Given the description of an element on the screen output the (x, y) to click on. 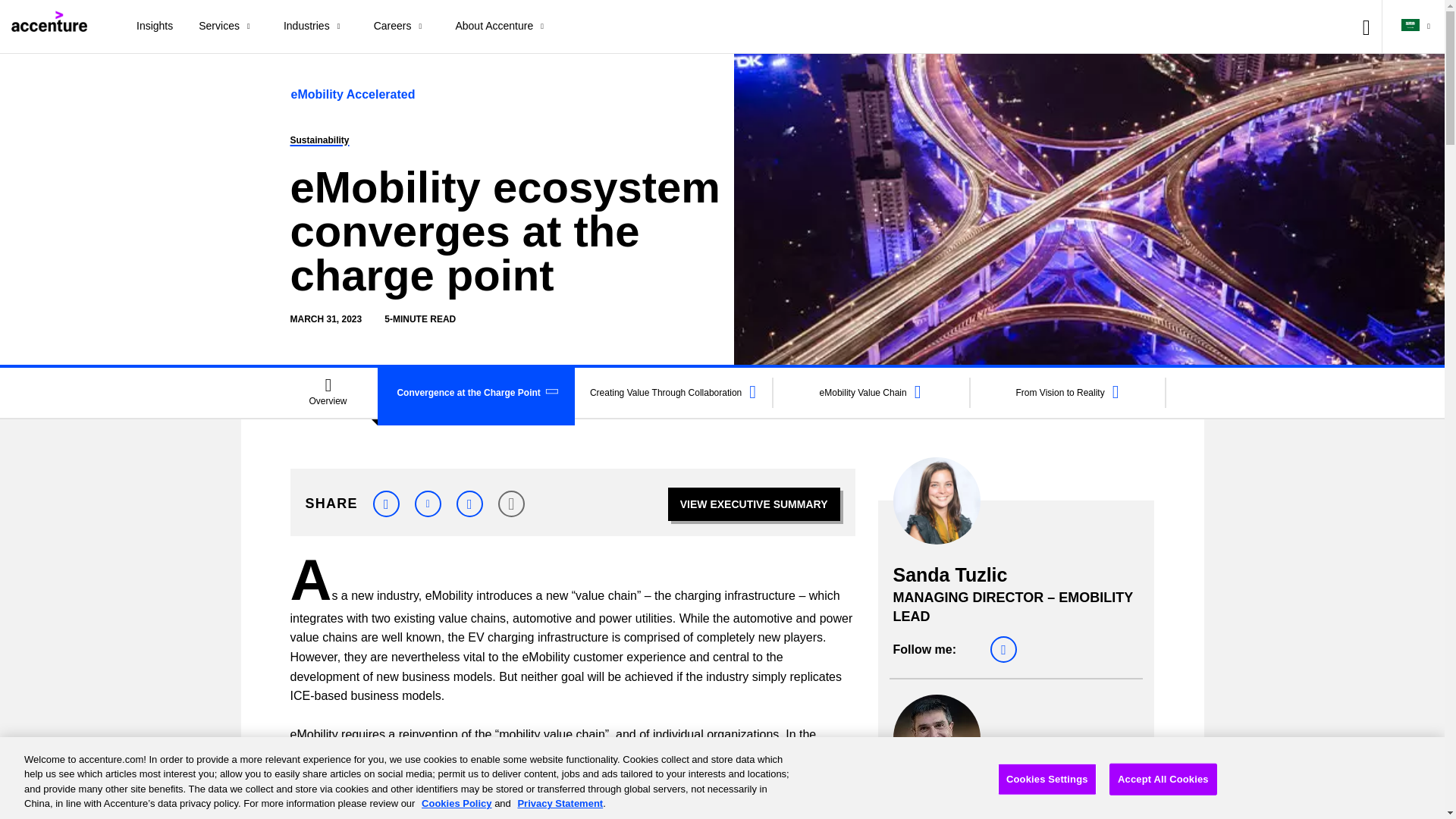
Industries (315, 26)
Insights (154, 26)
Services (228, 26)
